Given the description of an element on the screen output the (x, y) to click on. 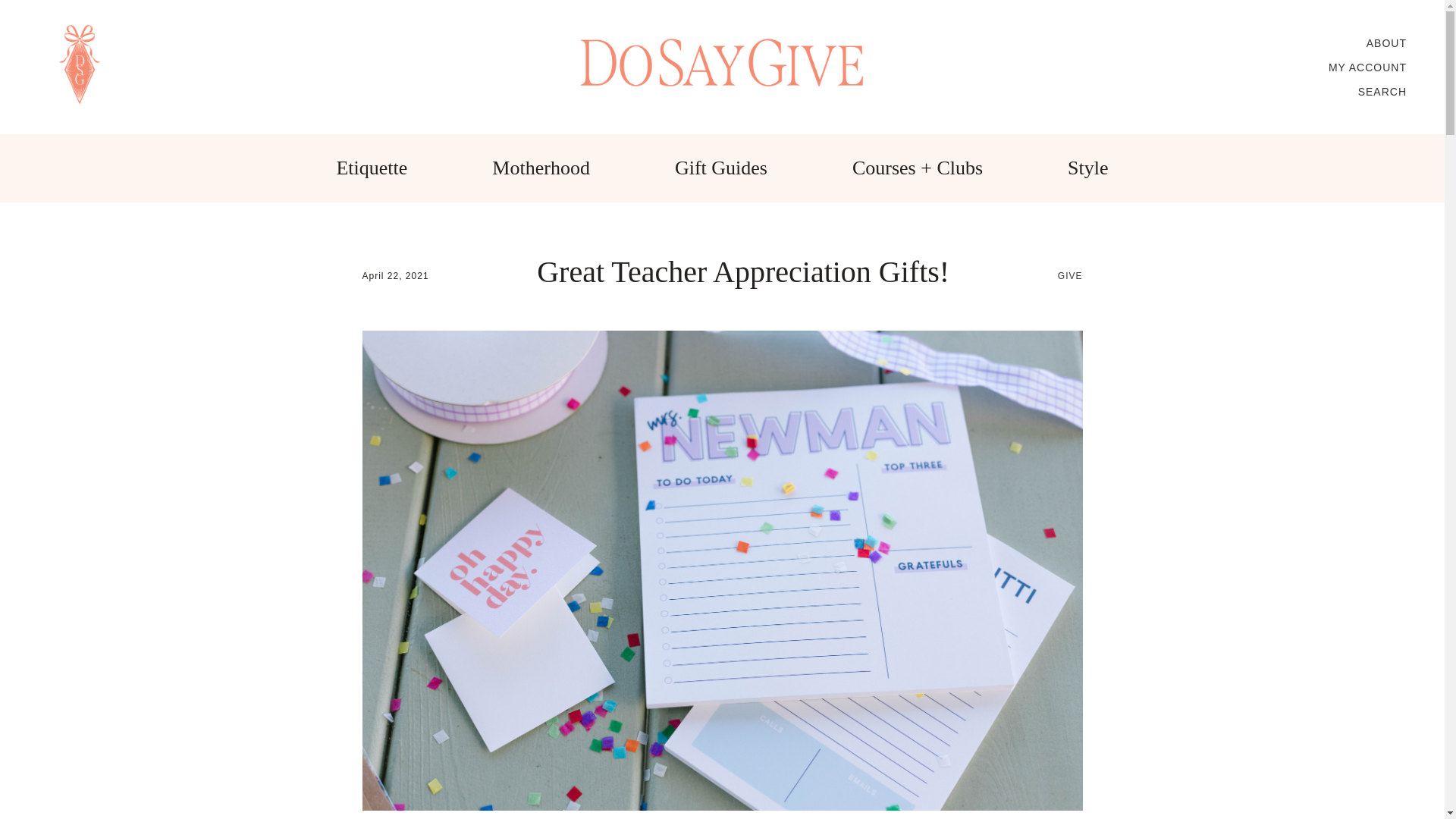
Gift Guides (721, 168)
GIVE (1070, 275)
SEARCH (1382, 90)
MY ACCOUNT (1366, 66)
Motherhood (540, 168)
Etiquette (371, 168)
ABOUT (1386, 42)
Style (1087, 168)
